Given the description of an element on the screen output the (x, y) to click on. 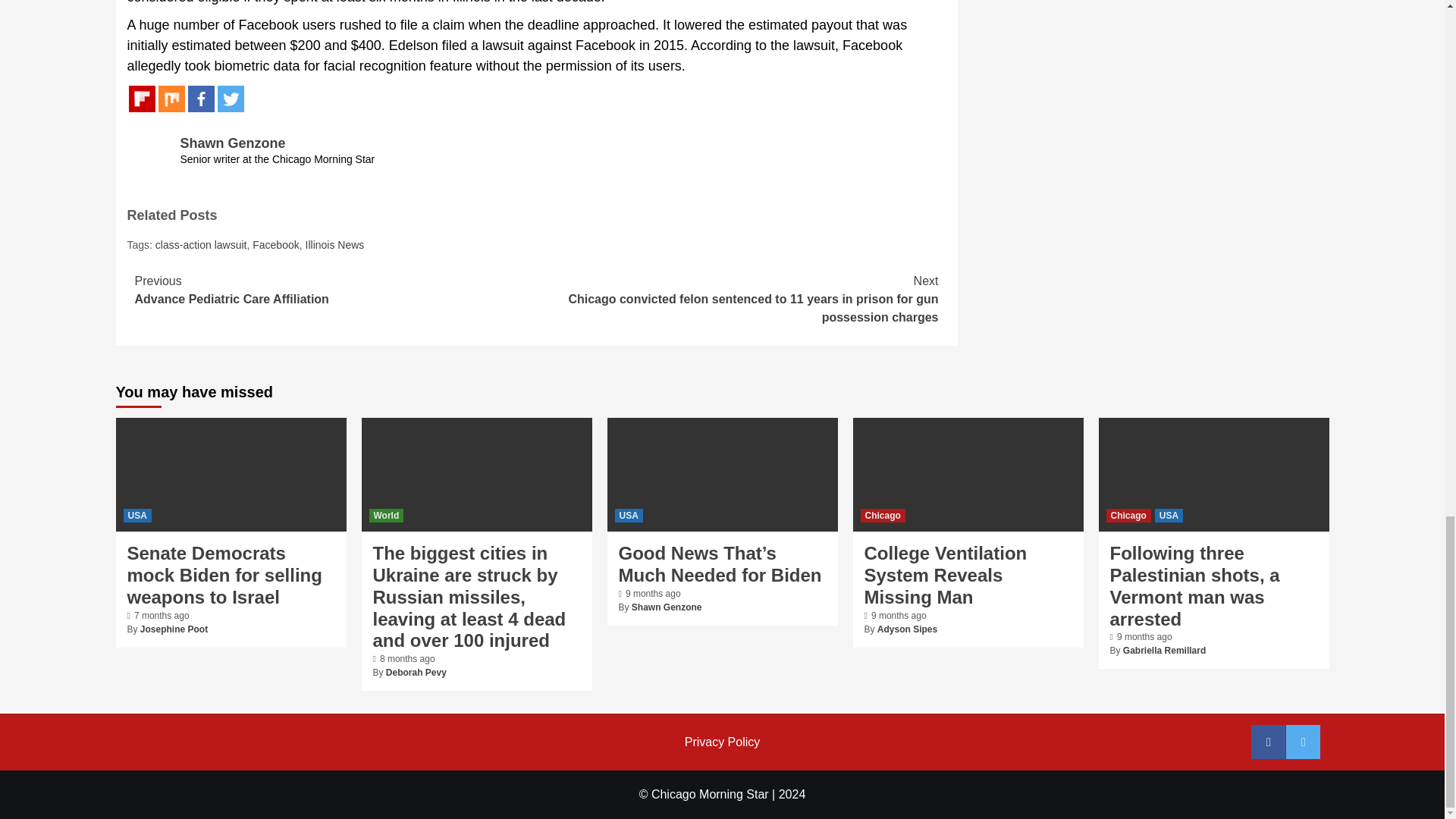
Flipboard (142, 98)
Shawn Genzone (232, 142)
Mix (170, 98)
Twitter (229, 98)
Facebook (200, 98)
